Given the description of an element on the screen output the (x, y) to click on. 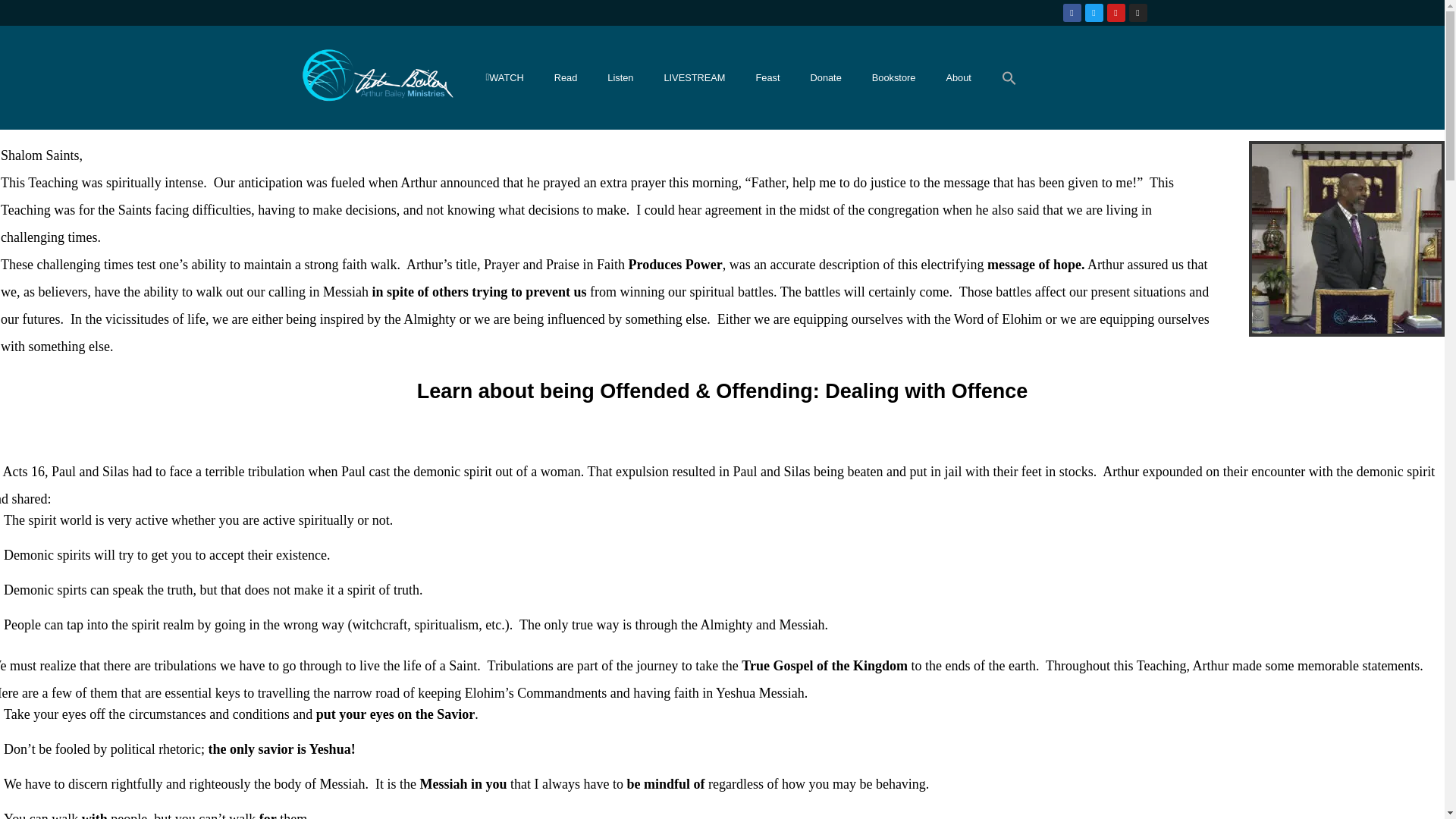
Read (565, 77)
Listen (619, 77)
WATCH (504, 77)
Feast (767, 77)
LIVESTREAM (693, 77)
